Given the description of an element on the screen output the (x, y) to click on. 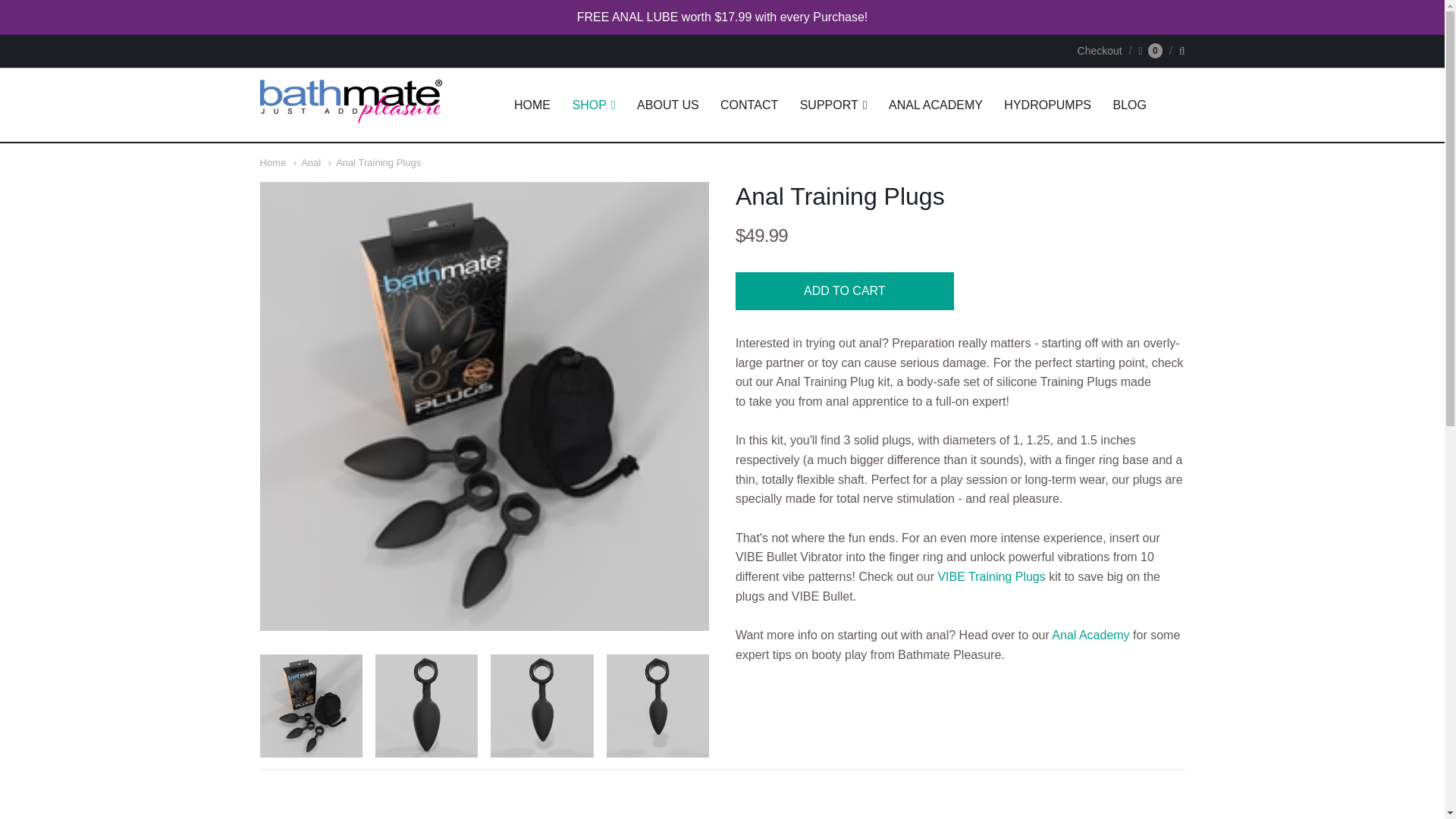
HOME (532, 105)
Home (272, 161)
Anal (307, 161)
VIBE Training Plugs (991, 576)
Checkout (1099, 50)
ABOUT US (667, 105)
0 (1149, 50)
SUPPORT (833, 105)
Anal Training Plugs (426, 705)
HYDROPUMPS (1047, 105)
Anal Training Plugs (658, 705)
CONTACT (749, 105)
Anal (307, 161)
SHOP (593, 105)
